Given the description of an element on the screen output the (x, y) to click on. 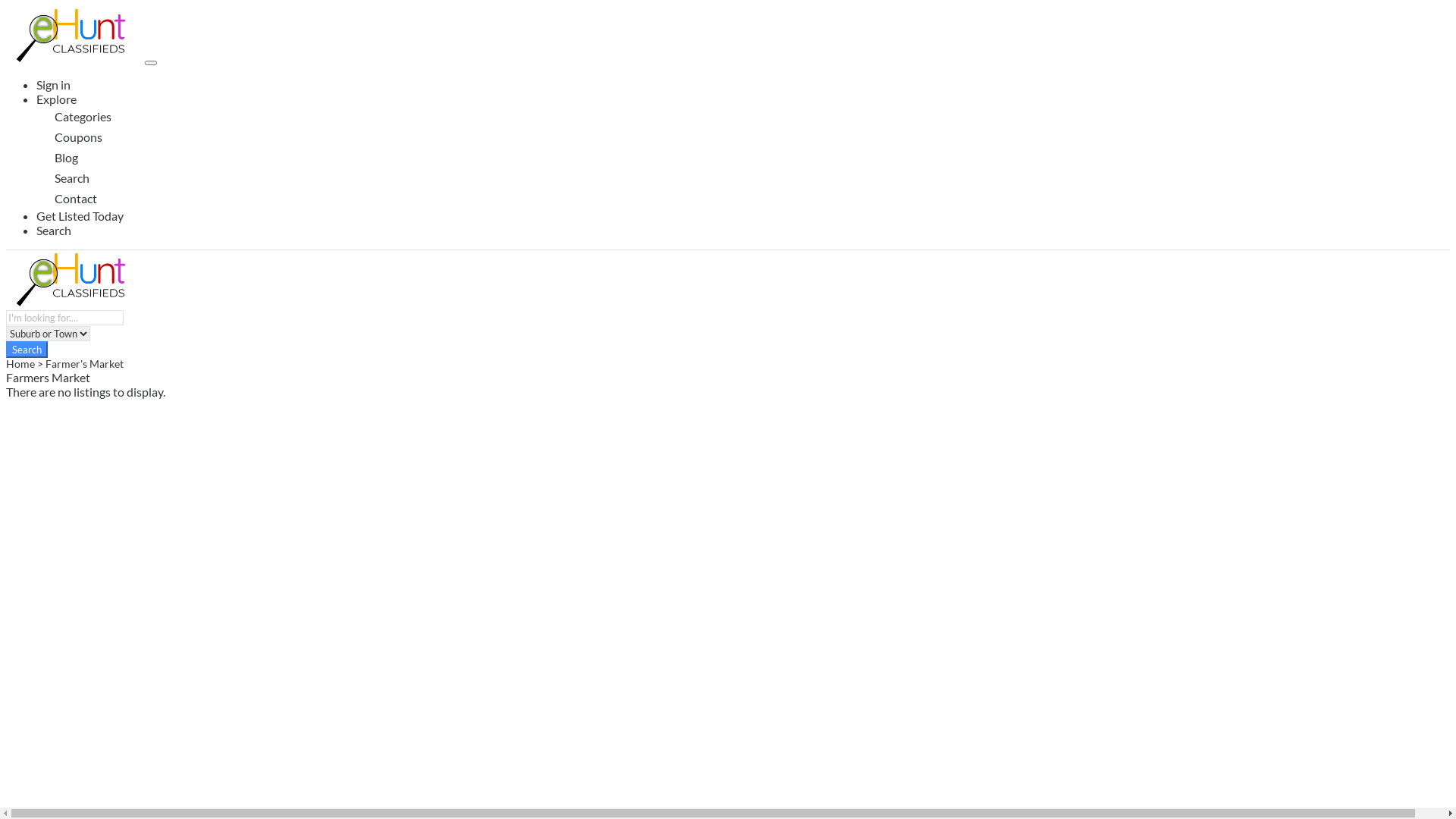
Search Element type: text (26, 349)
Search Element type: text (53, 229)
Farmers Market Element type: text (48, 377)
Explore Element type: text (56, 98)
Home Element type: text (20, 363)
Sign in Element type: text (53, 84)
Get Listed Today Element type: text (79, 215)
